Given the description of an element on the screen output the (x, y) to click on. 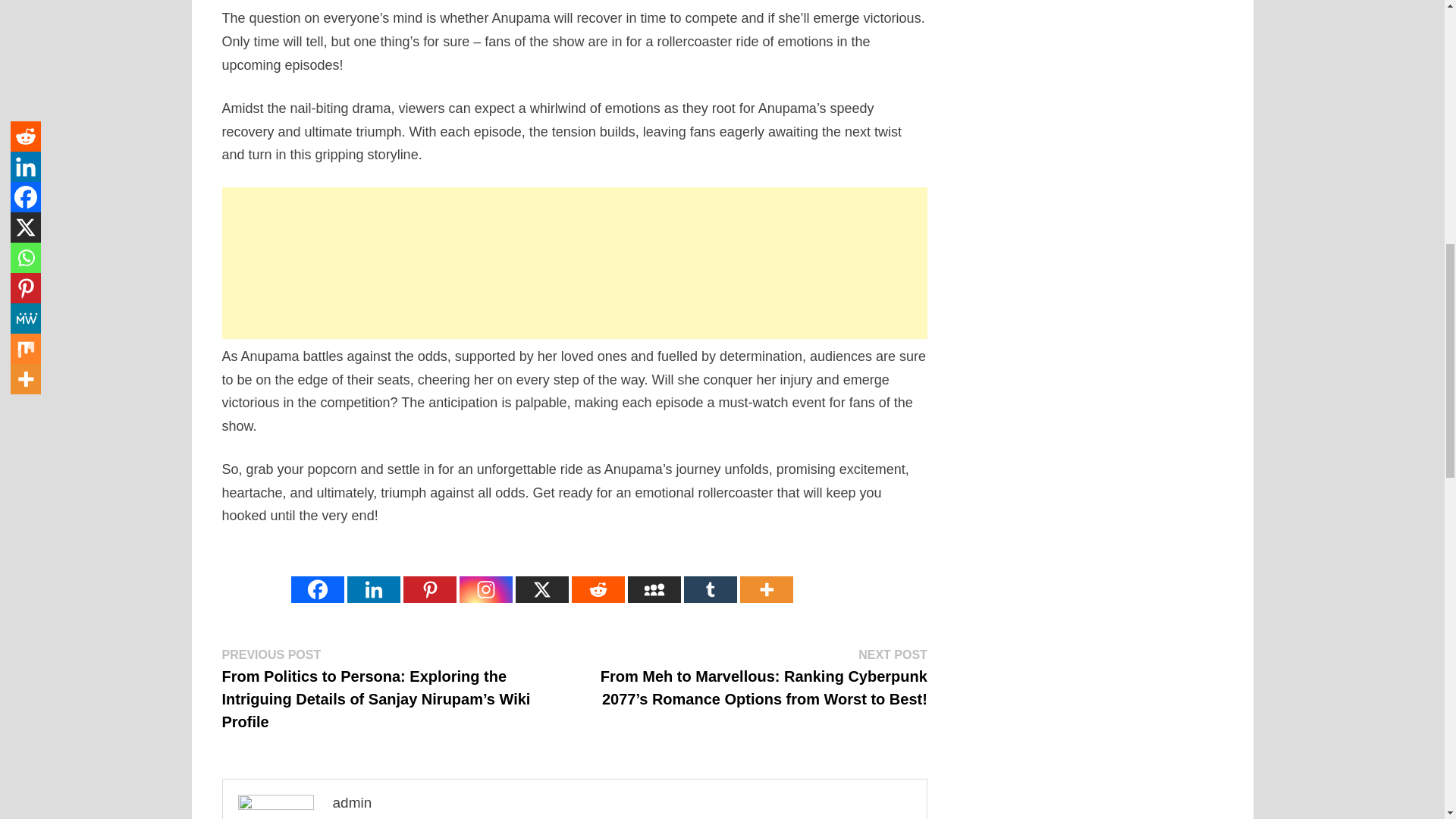
Pinterest (430, 576)
Reddit (598, 576)
More (766, 576)
MySpace (654, 576)
Linkedin (373, 576)
X (542, 576)
Facebook (317, 576)
Tumblr (710, 576)
Instagram (486, 576)
